Given the description of an element on the screen output the (x, y) to click on. 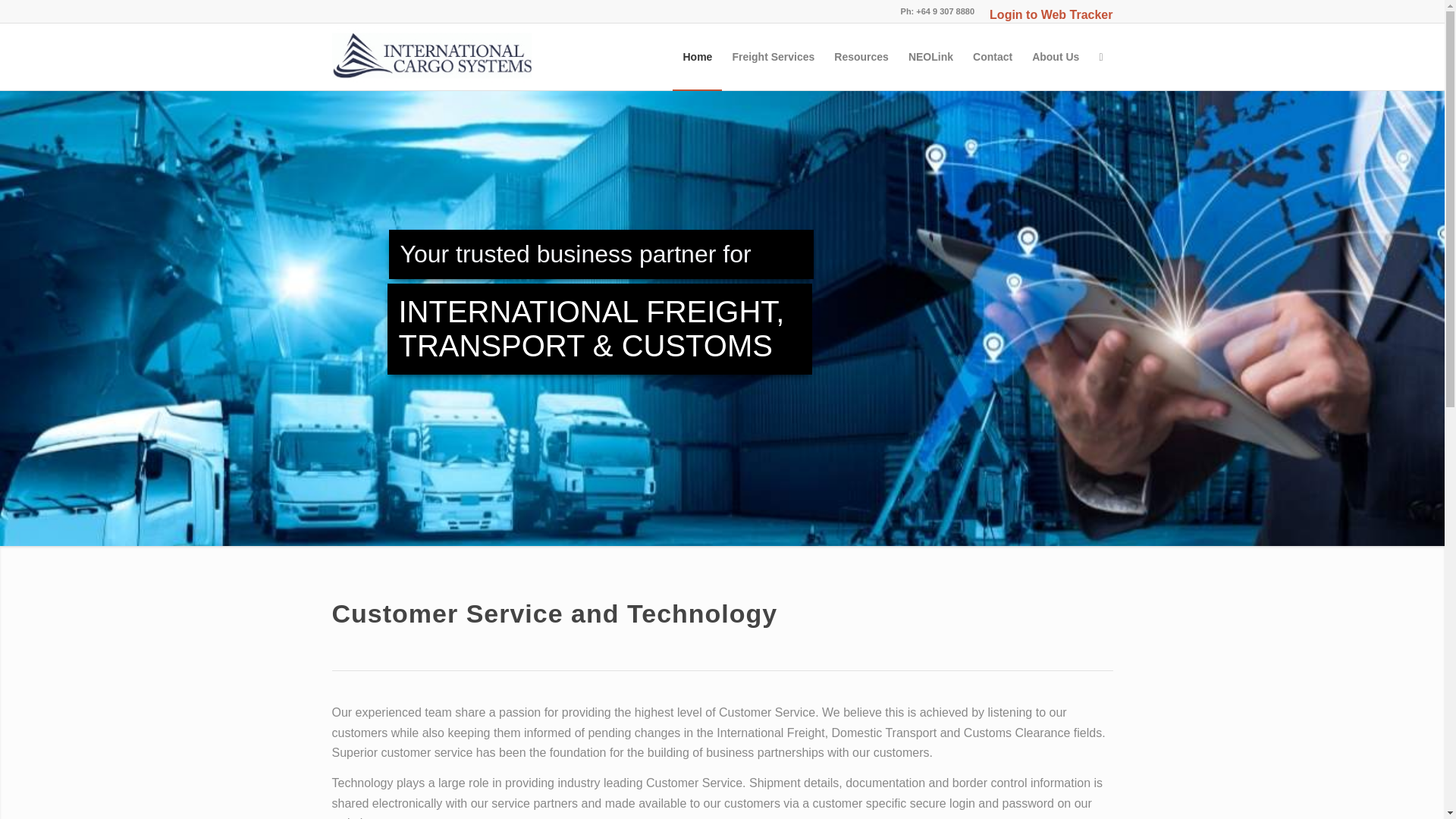
About Us (1055, 56)
Resources (861, 56)
Freight Services (773, 56)
Login to Web Tracker (1051, 14)
NEOLink (930, 56)
